Given the description of an element on the screen output the (x, y) to click on. 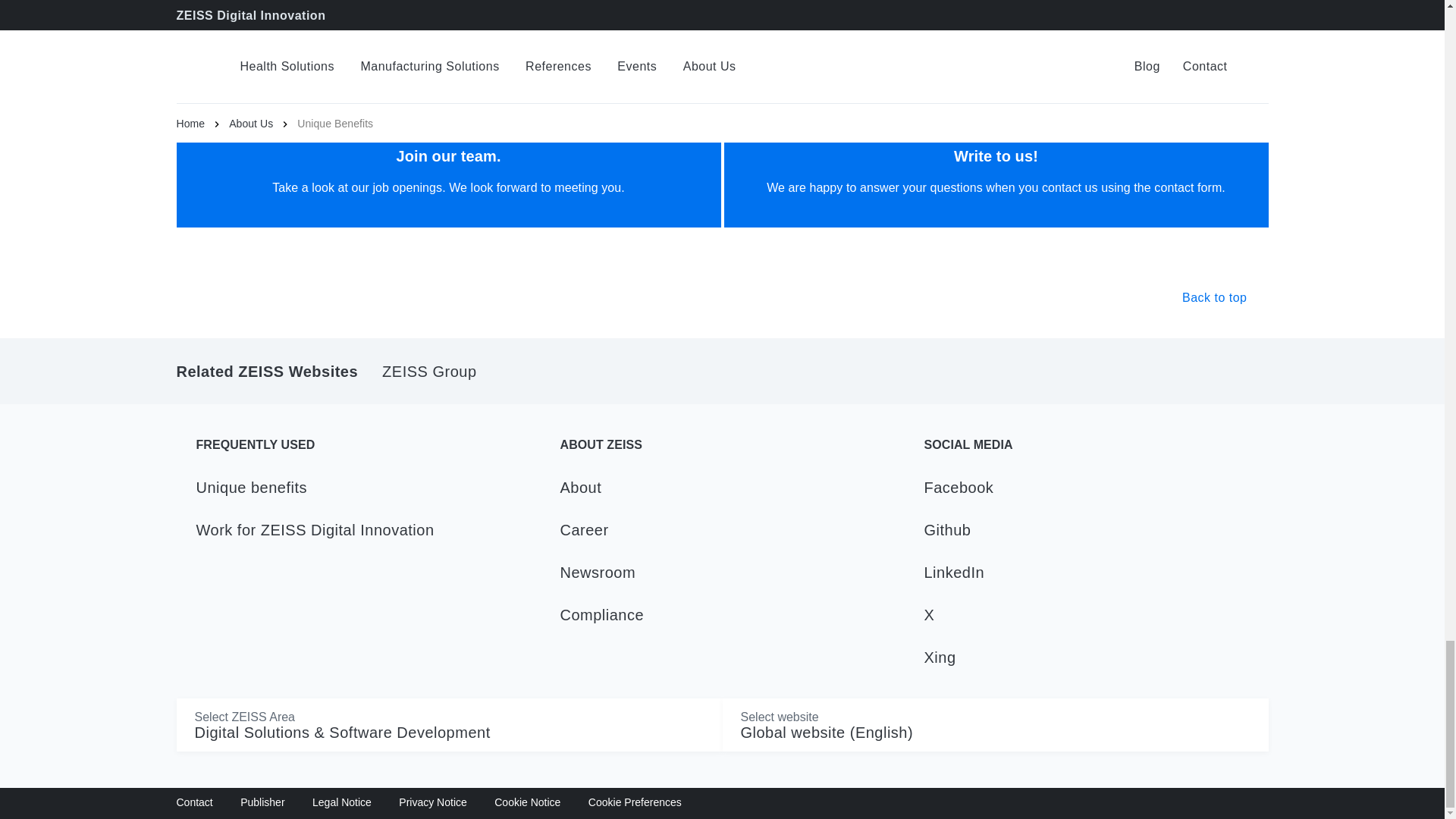
FREQUENTLY USED (366, 444)
ZEISS Group (428, 371)
Unique benefits (366, 487)
Work for ZEISS Digital Innovation (366, 529)
Back to top (1225, 297)
